Given the description of an element on the screen output the (x, y) to click on. 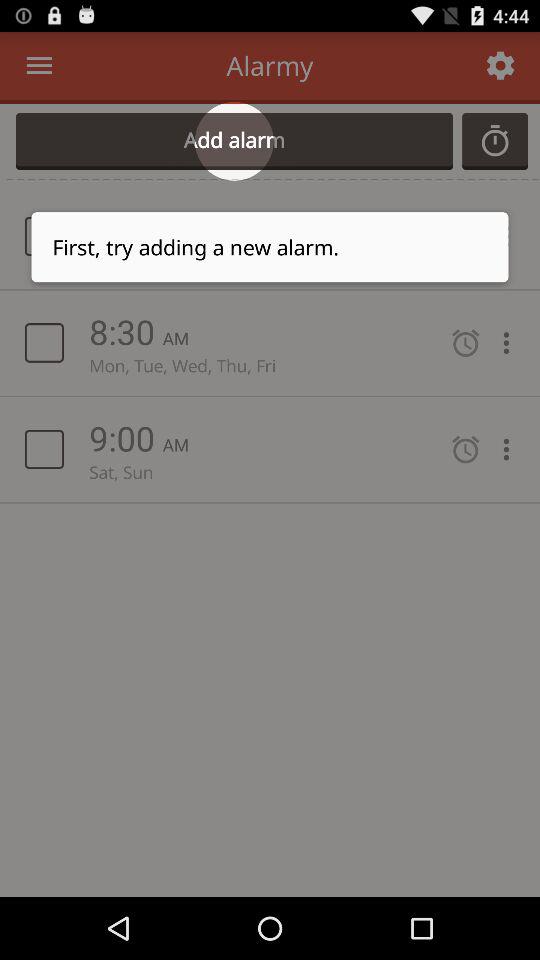
select add alarm icon (234, 141)
